Given the description of an element on the screen output the (x, y) to click on. 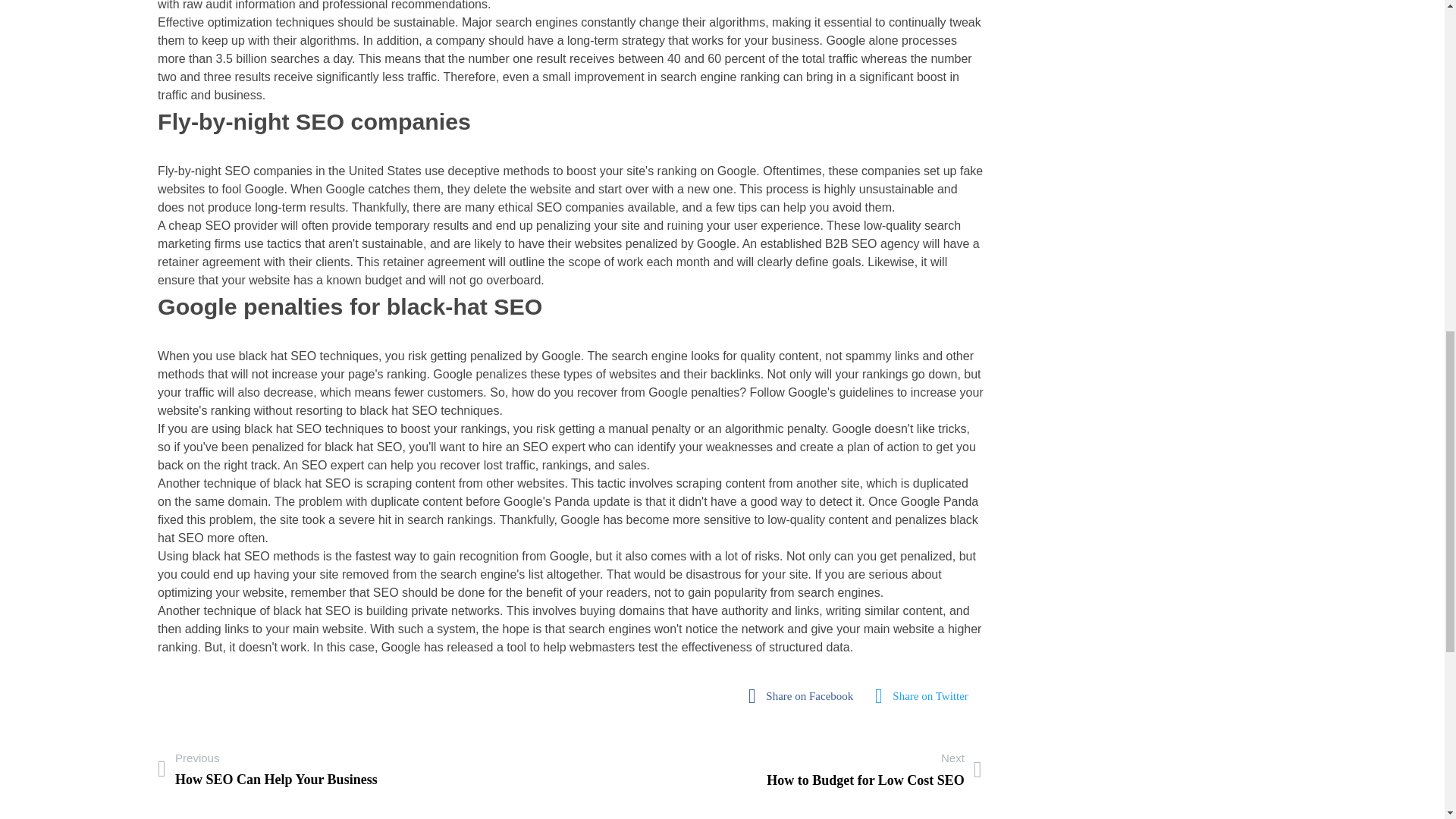
Share on Facebook (267, 769)
fab fa-twitter-square (804, 696)
Share on Twitter (874, 769)
fab fa-facebook-square (925, 696)
